Given the description of an element on the screen output the (x, y) to click on. 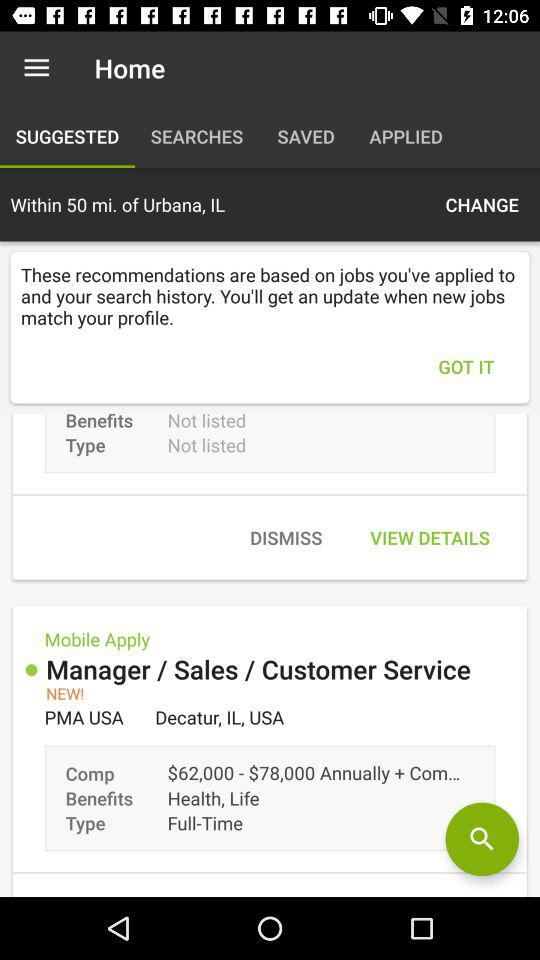
job search by ziprecruiter (482, 839)
